Given the description of an element on the screen output the (x, y) to click on. 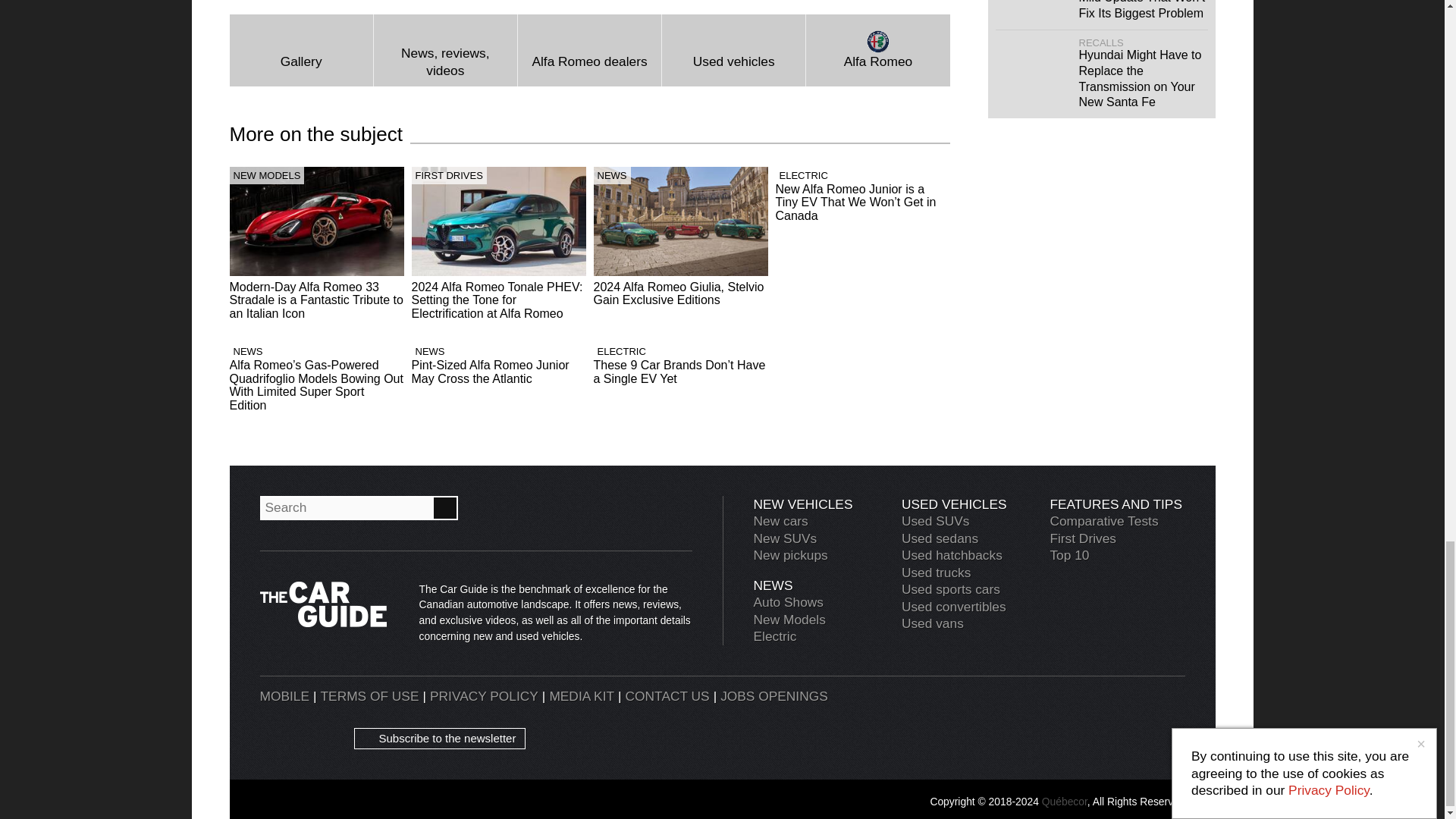
Used Alfa Romeo Giulia (733, 50)
Le Guide de l'auto (1078, 718)
Otogo (1149, 718)
